Given the description of an element on the screen output the (x, y) to click on. 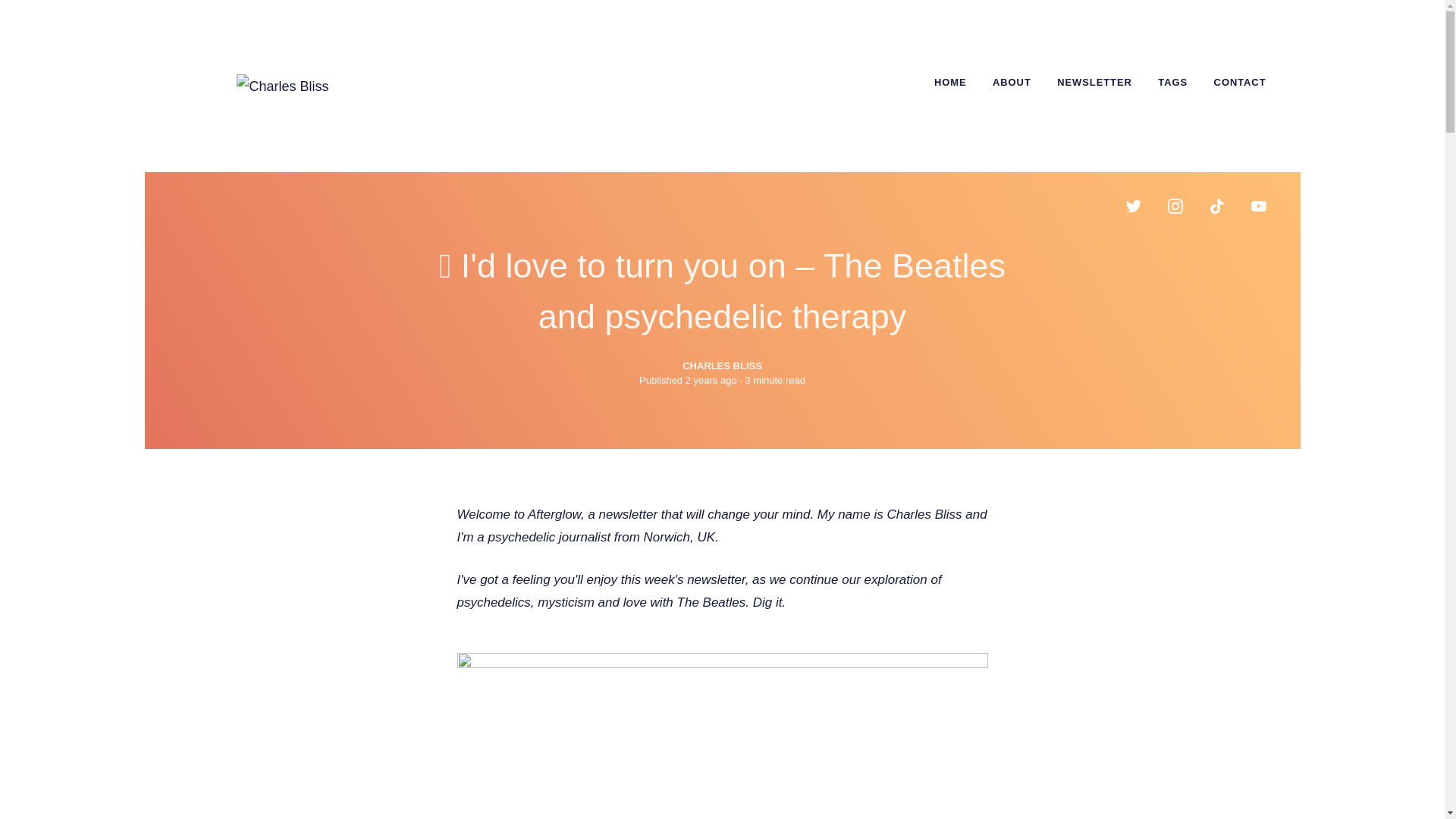
TAGS (1172, 82)
NEWSLETTER (1093, 82)
CONTACT (1240, 82)
CHARLES BLISS (721, 365)
ABOUT (1011, 82)
HOME (950, 82)
